Given the description of an element on the screen output the (x, y) to click on. 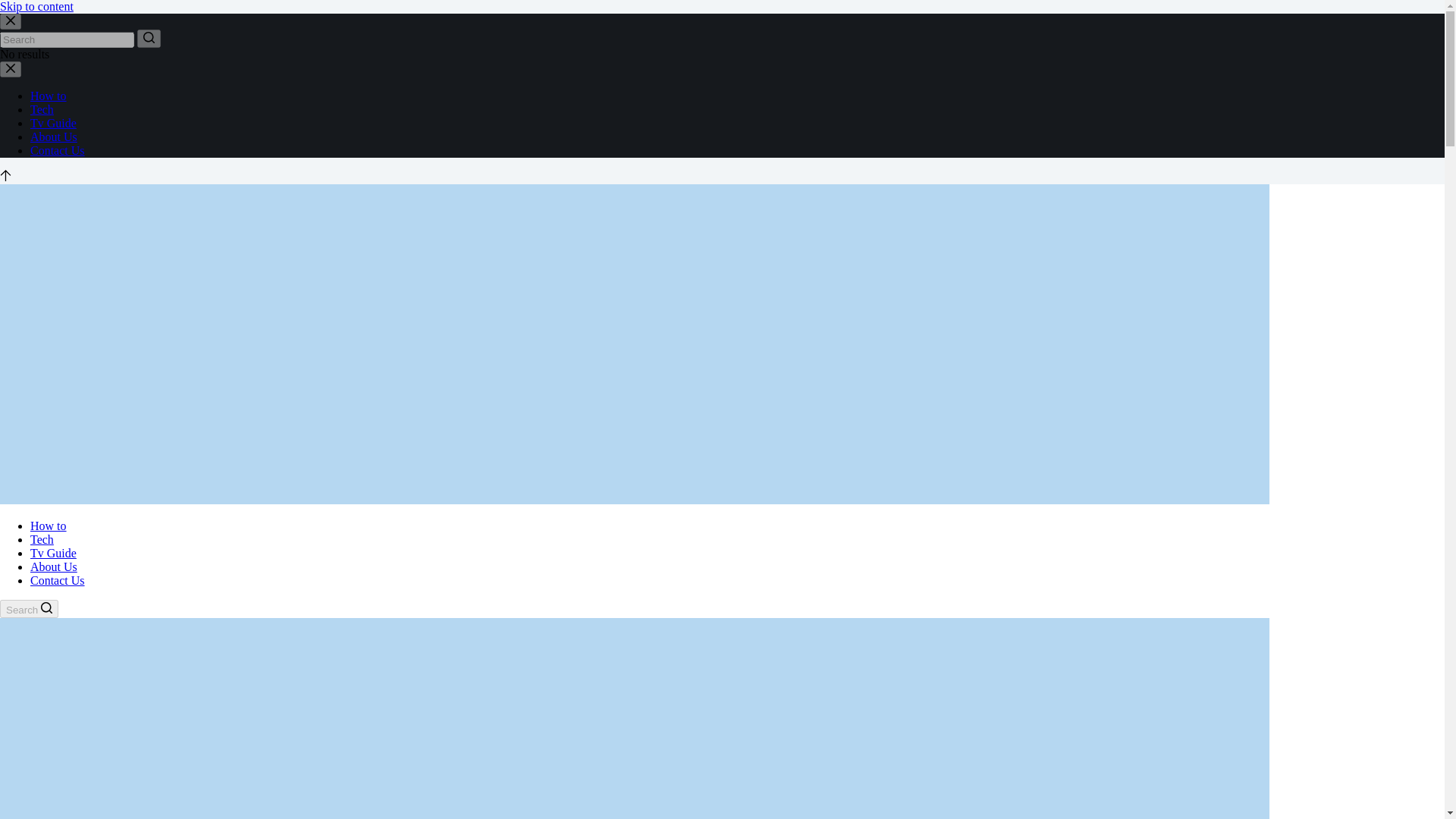
Tv Guide (53, 553)
How to (48, 95)
Tech (41, 109)
Tv Guide (53, 123)
Contact Us (57, 580)
Contact Us (57, 150)
About Us (53, 566)
Search for... (66, 39)
Search (29, 608)
About Us (53, 136)
Tech (41, 539)
Skip to content (37, 6)
How to (48, 525)
